Given the description of an element on the screen output the (x, y) to click on. 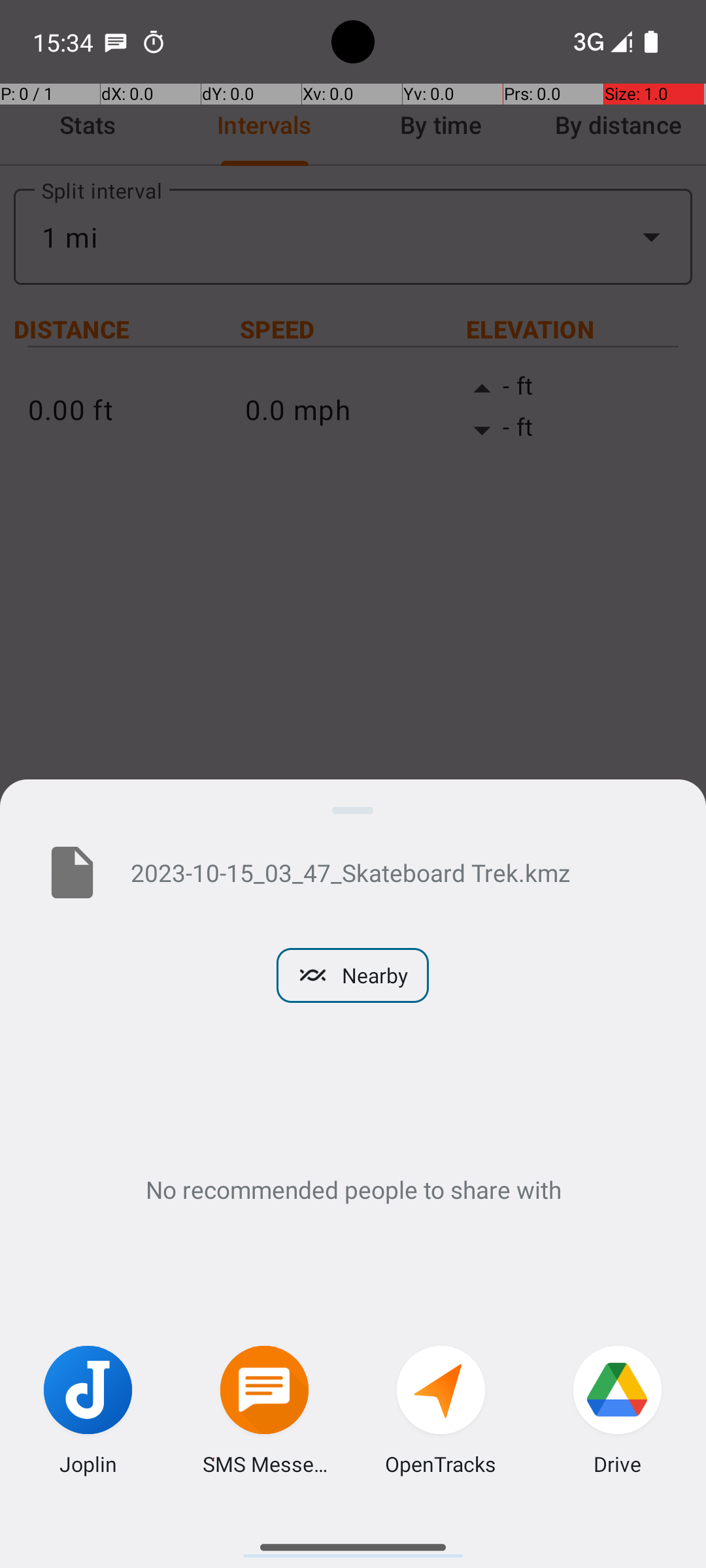
2023-10-15_03_47_Skateboard Trek.kmz Element type: android.widget.TextView (397, 872)
